Given the description of an element on the screen output the (x, y) to click on. 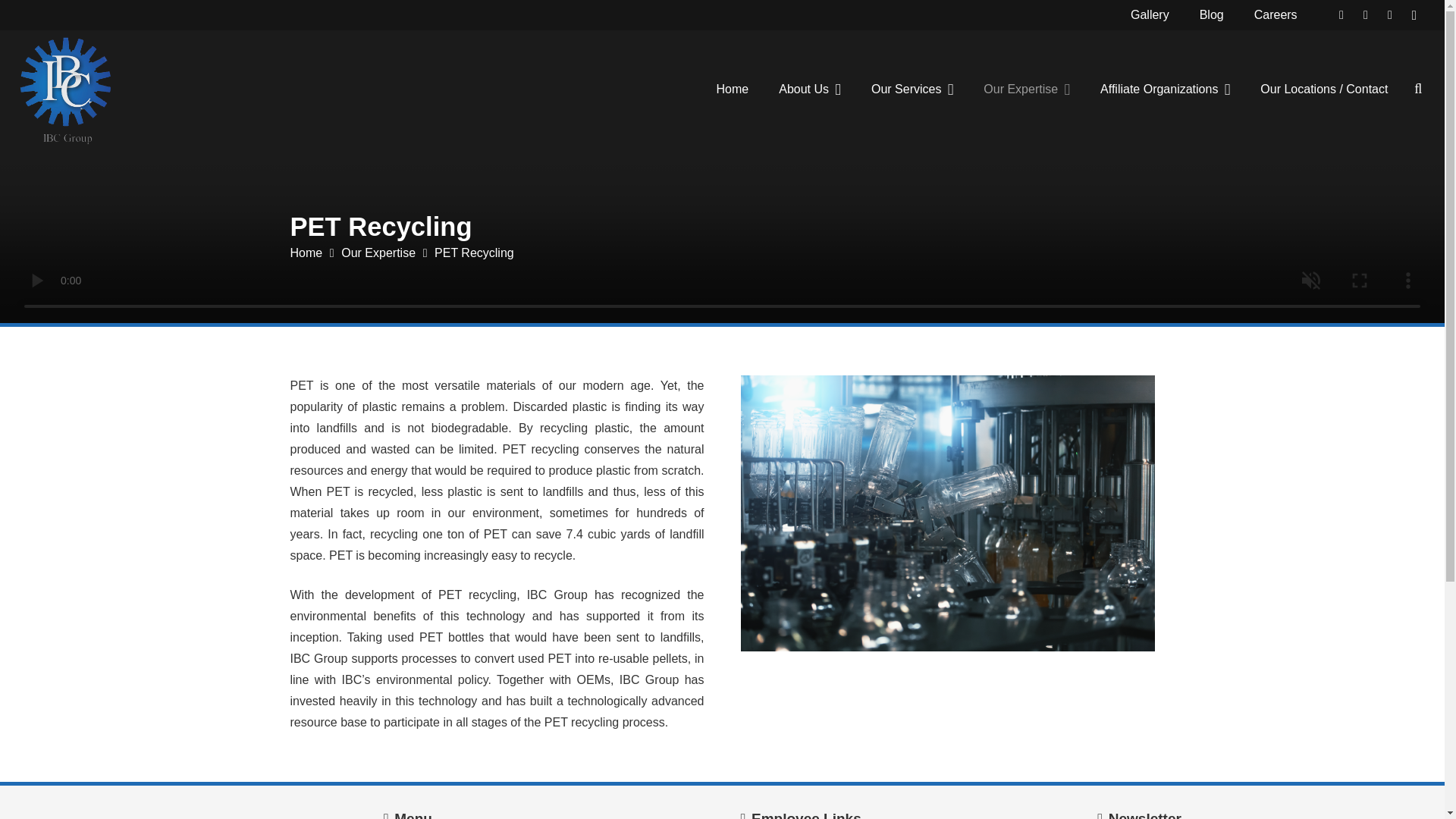
Home (732, 89)
LinkedIn (1341, 15)
Our Expertise (1026, 89)
Our Services (912, 89)
Twitter (1365, 15)
Facebook (1389, 15)
About Us (809, 89)
Gallery (1150, 15)
Careers (1276, 15)
Instagram (1414, 15)
Affiliate Organizations (1164, 89)
Blog (1212, 15)
